Given the description of an element on the screen output the (x, y) to click on. 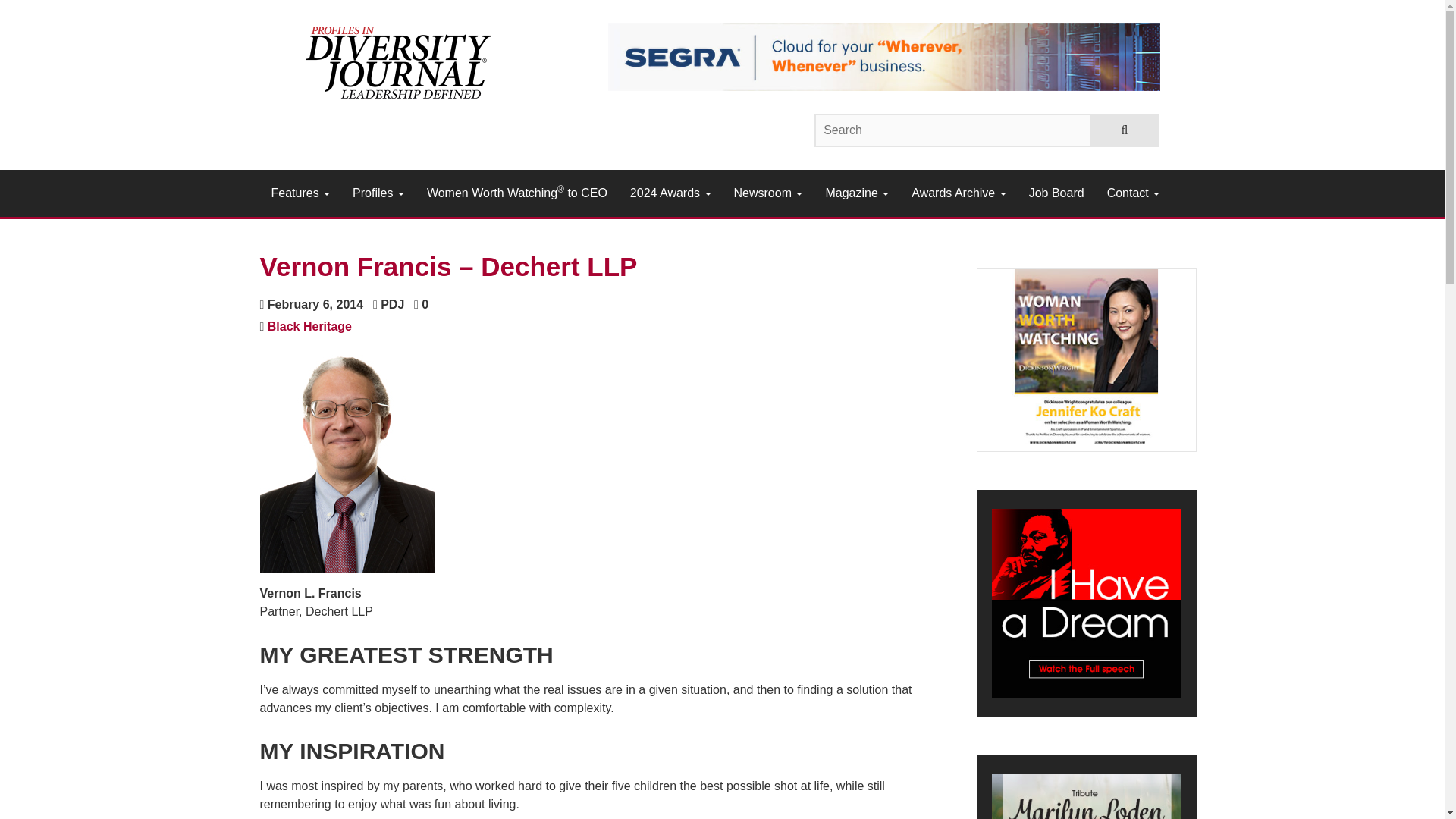
Newsroom (767, 193)
Features (299, 193)
Profiles (377, 193)
Features (299, 193)
2024 Awards (670, 193)
Profiles (377, 193)
